Given the description of an element on the screen output the (x, y) to click on. 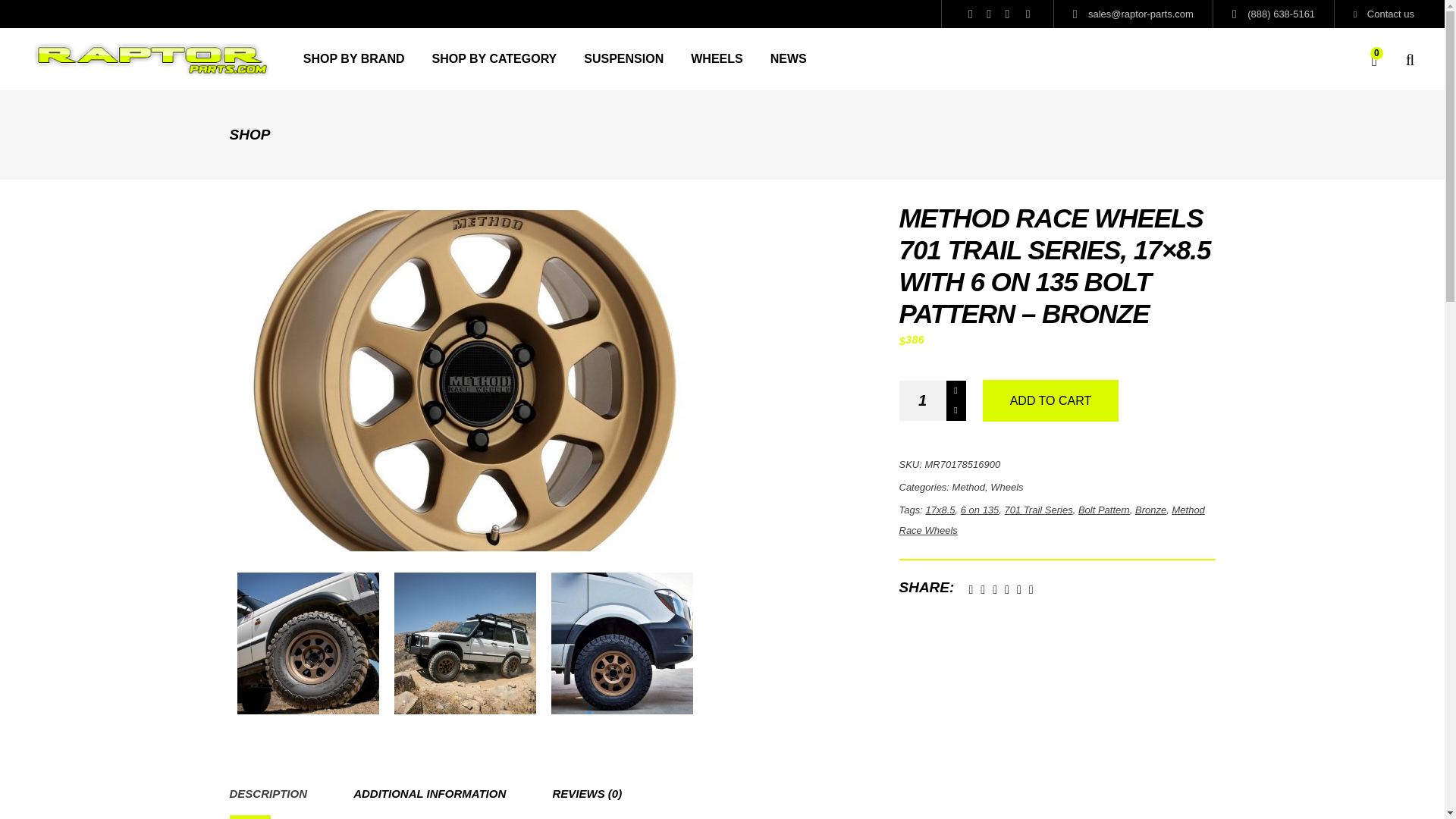
Method 701 Trail Series Bronze Wheels (622, 643)
SHOP BY BRAND (354, 58)
Qty (922, 400)
Method 701 Trail Series Bronze Wheels (464, 643)
Contact us (1382, 13)
Method 701 Trail Series Bronze Wheels (306, 643)
1 (922, 400)
SHOP BY CATEGORY (494, 58)
